Given the description of an element on the screen output the (x, y) to click on. 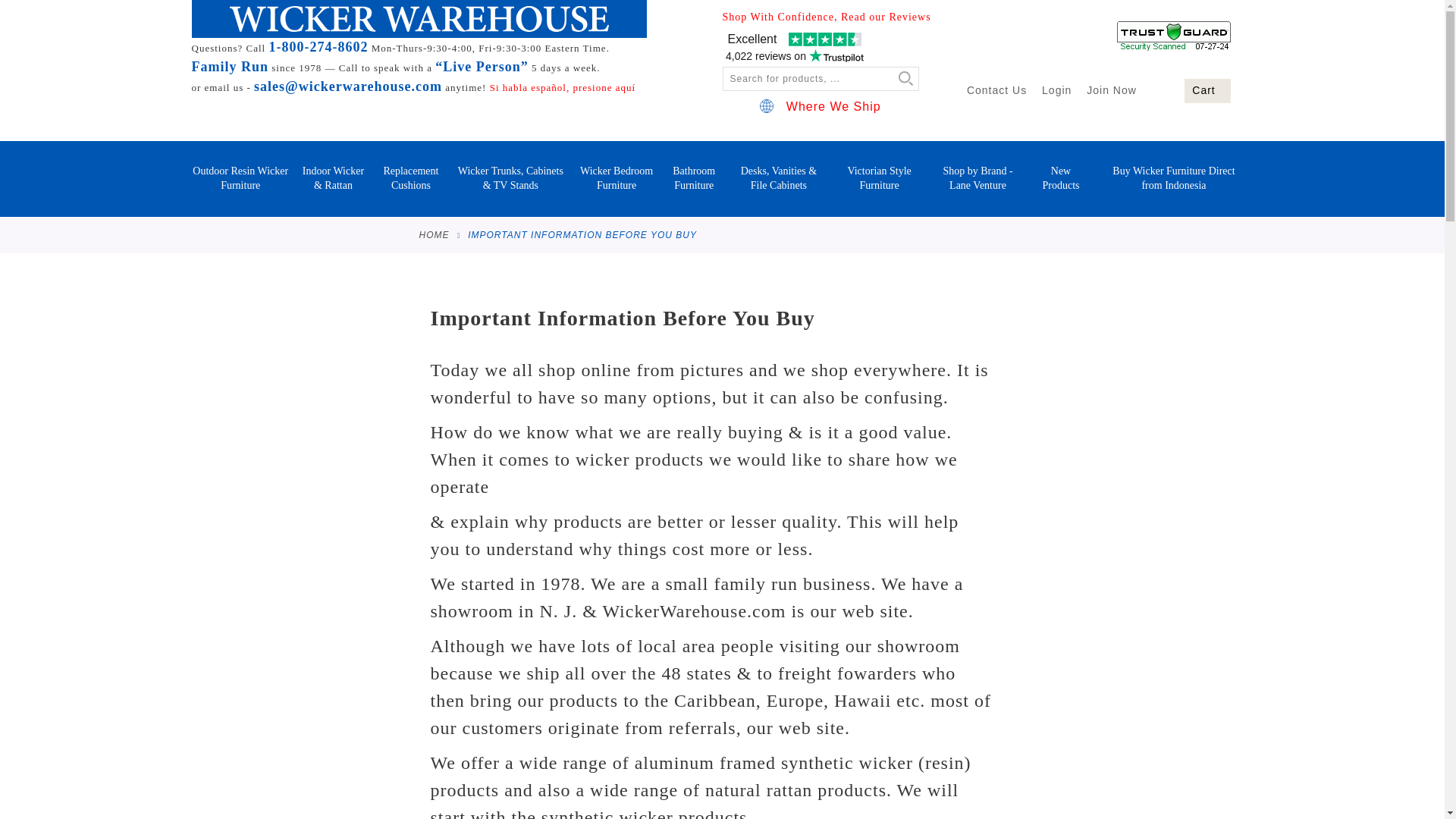
Google-Translate-English-to-Spanish (561, 87)
Outdoor Resin Wicker Furniture (241, 178)
Contact Us (996, 90)
Go to Home Page (433, 234)
Wicker Furniture - by Wicker Warehouse (418, 18)
Cart   (1207, 90)
Search (900, 78)
Login (1056, 90)
Customer reviews powered by Trustpilot (794, 49)
1-800-274-8602 (317, 46)
Where We Ship (820, 106)
Join Now (1111, 90)
